Given the description of an element on the screen output the (x, y) to click on. 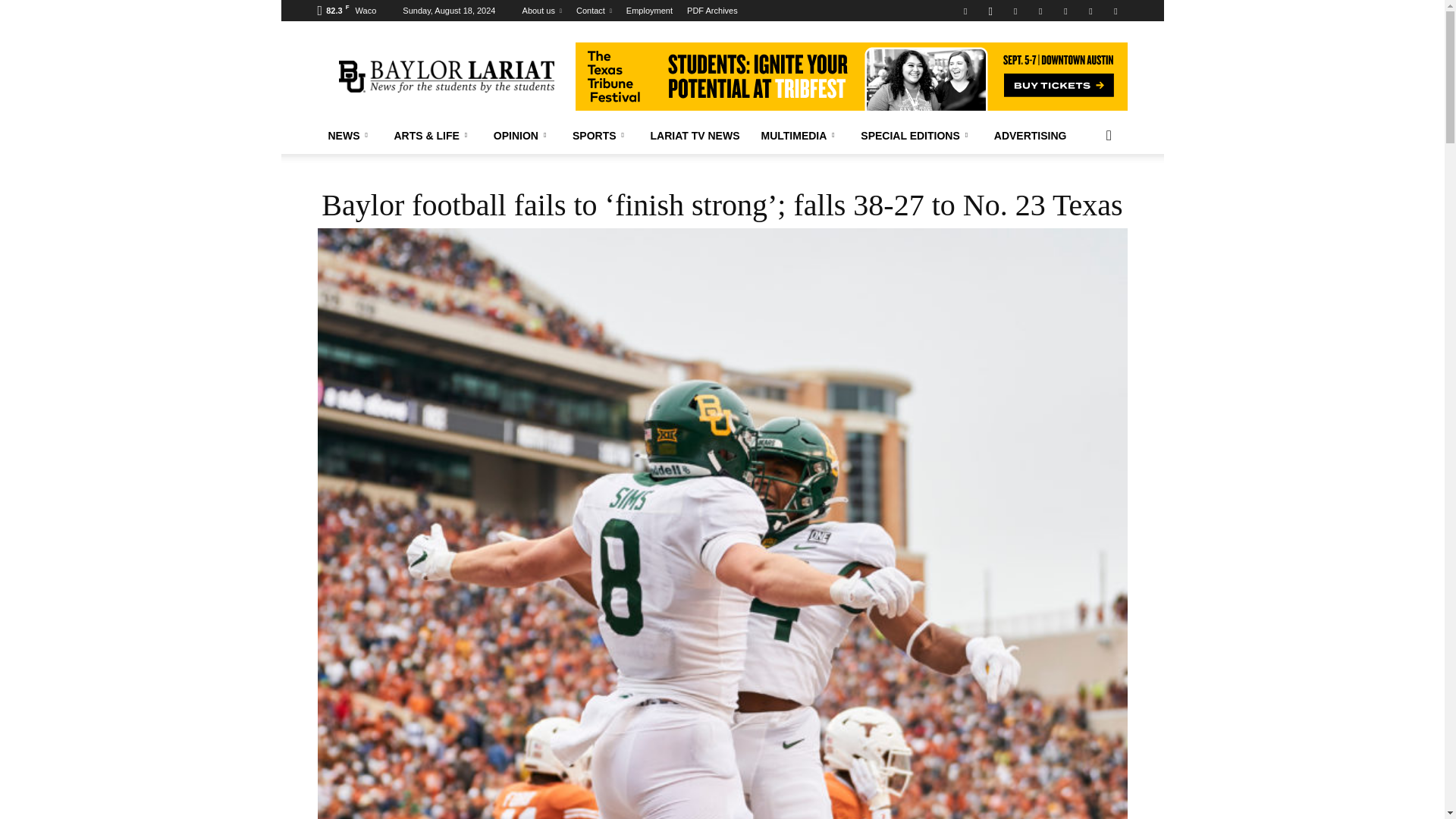
Instagram (989, 10)
Facebook (964, 10)
Student Employment (649, 10)
Contact the Lariat (593, 10)
Linkedin (1015, 10)
